Given the description of an element on the screen output the (x, y) to click on. 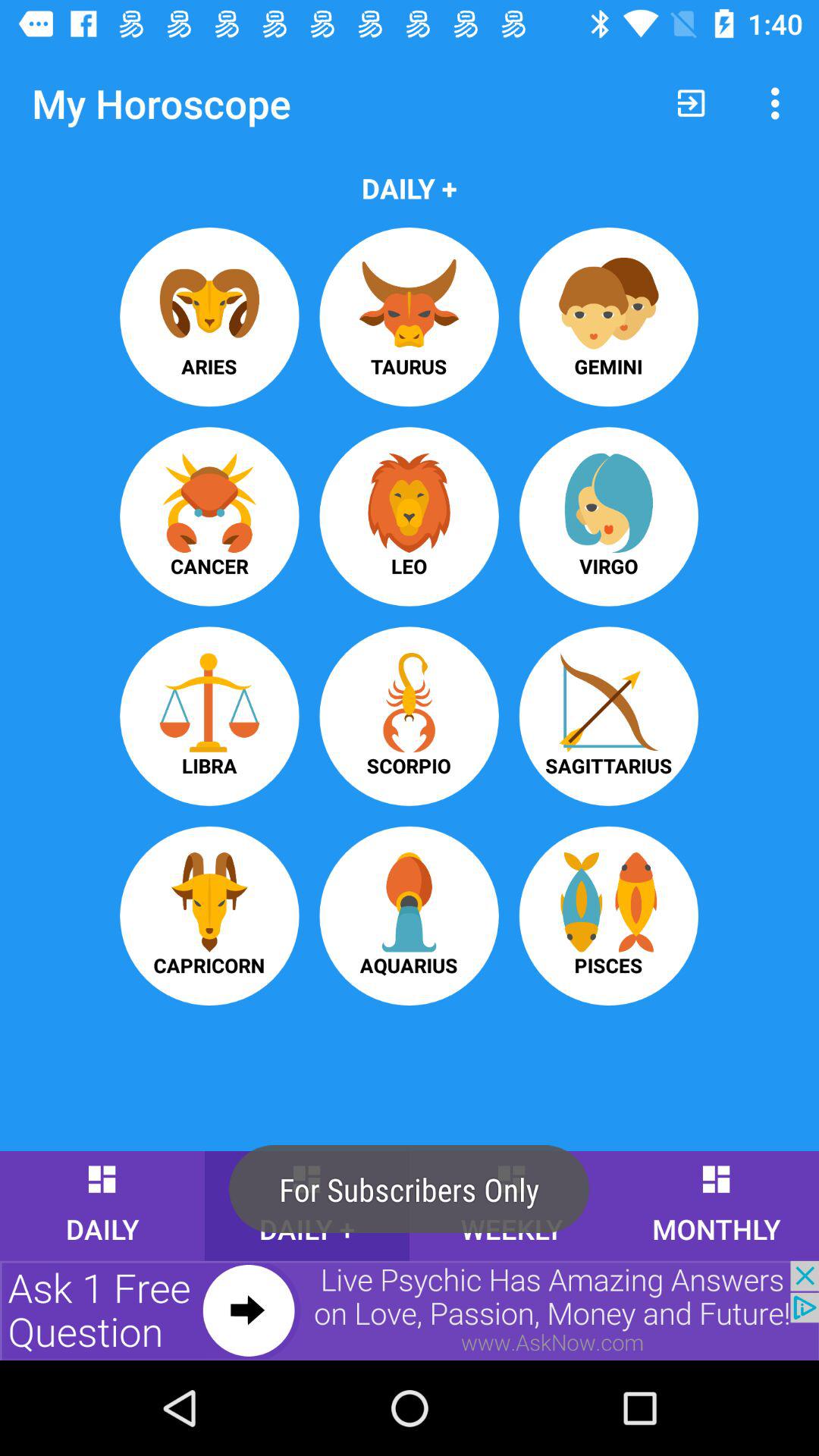
go to advertising partner (409, 1310)
